Given the description of an element on the screen output the (x, y) to click on. 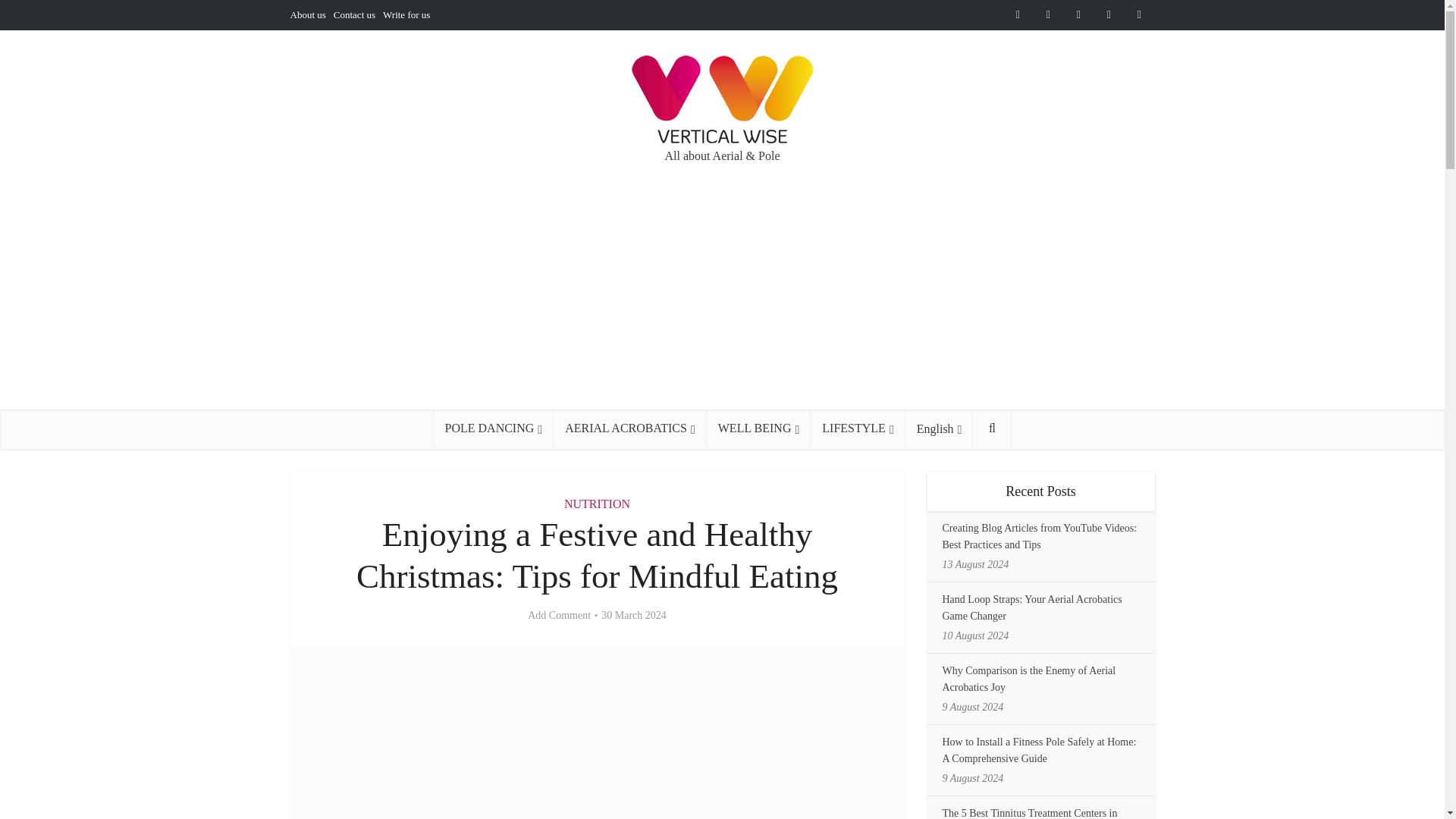
Contact us (354, 14)
POLE DANCING (493, 428)
AERIAL ACROBATICS (629, 428)
English (939, 428)
LIFESTYLE (857, 428)
WELL BEING (758, 428)
Write for us (405, 14)
About us (306, 14)
English (939, 428)
